Given the description of an element on the screen output the (x, y) to click on. 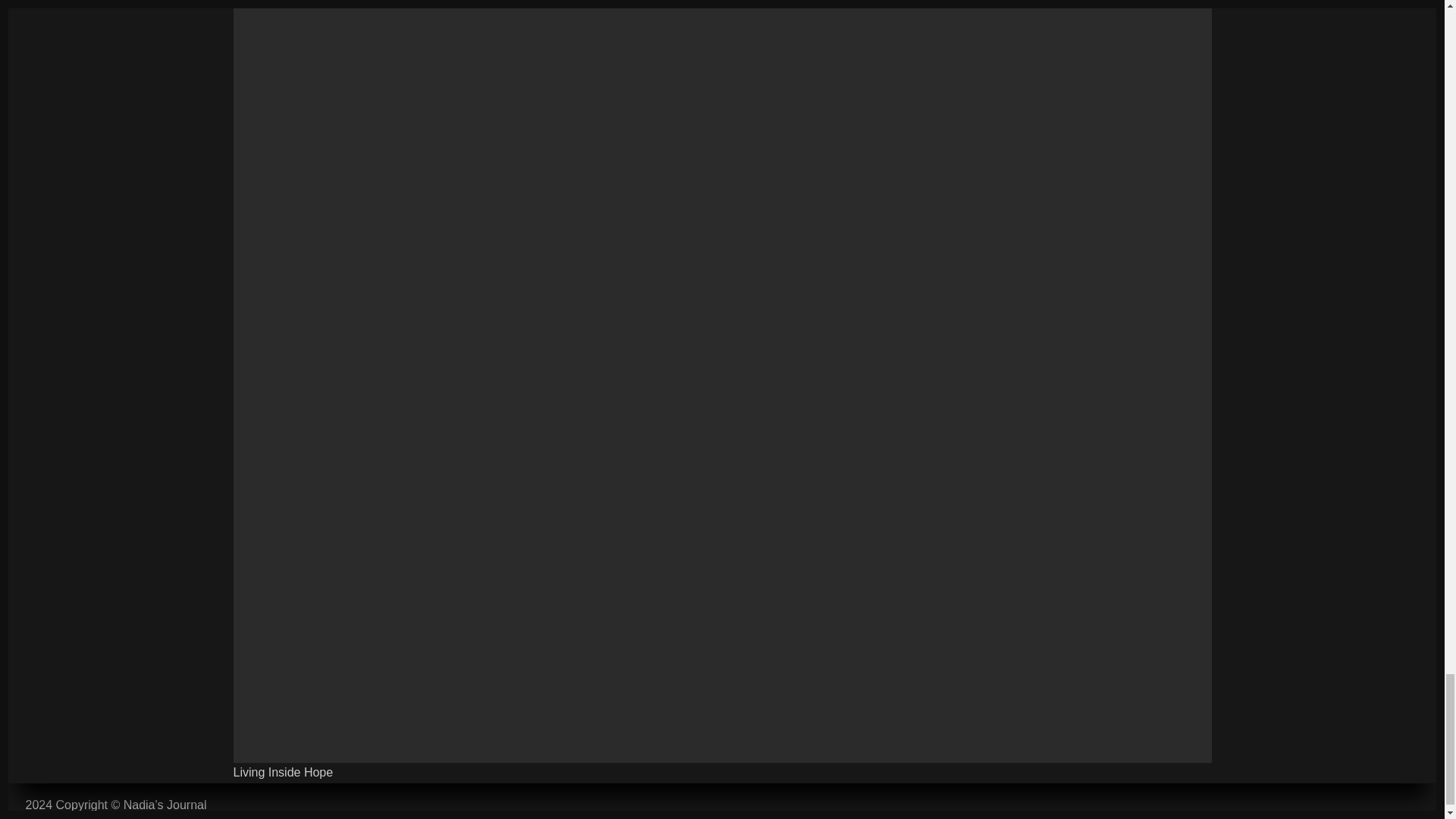
Living Inside Hope (282, 771)
